Given the description of an element on the screen output the (x, y) to click on. 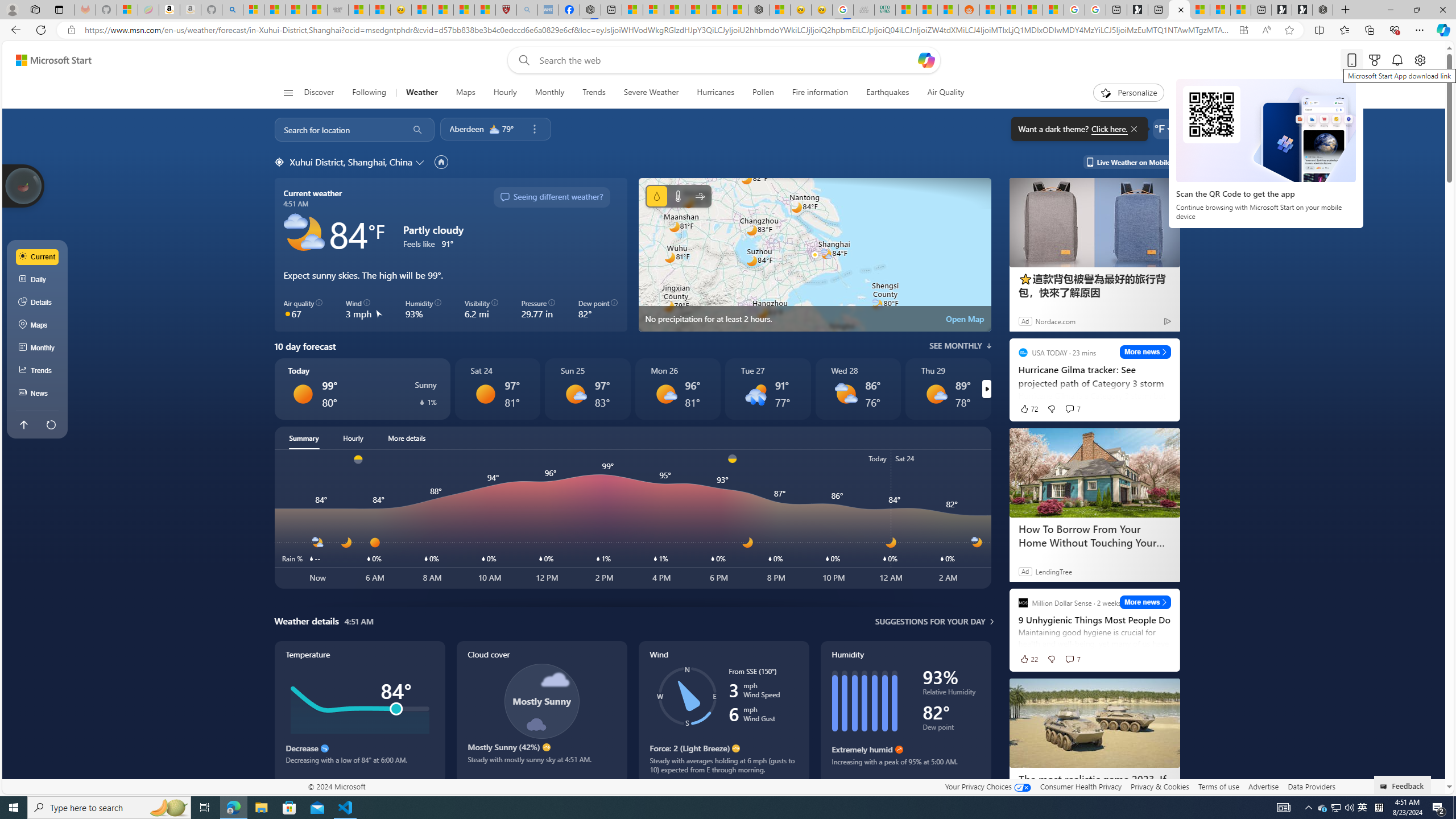
Dew point (951, 728)
Robert H. Shmerling, MD - Harvard Health (505, 9)
Maps (465, 92)
14 Common Myths Debunked By Scientific Facts (716, 9)
Play Free Online Games | Games from Microsoft Start (1302, 9)
Temperature (678, 195)
Monthly (549, 92)
Severe Weather (651, 92)
Hurricanes (715, 92)
R******* | Trusted Community Engagement and Contributions (990, 9)
Humidity (905, 711)
